Given the description of an element on the screen output the (x, y) to click on. 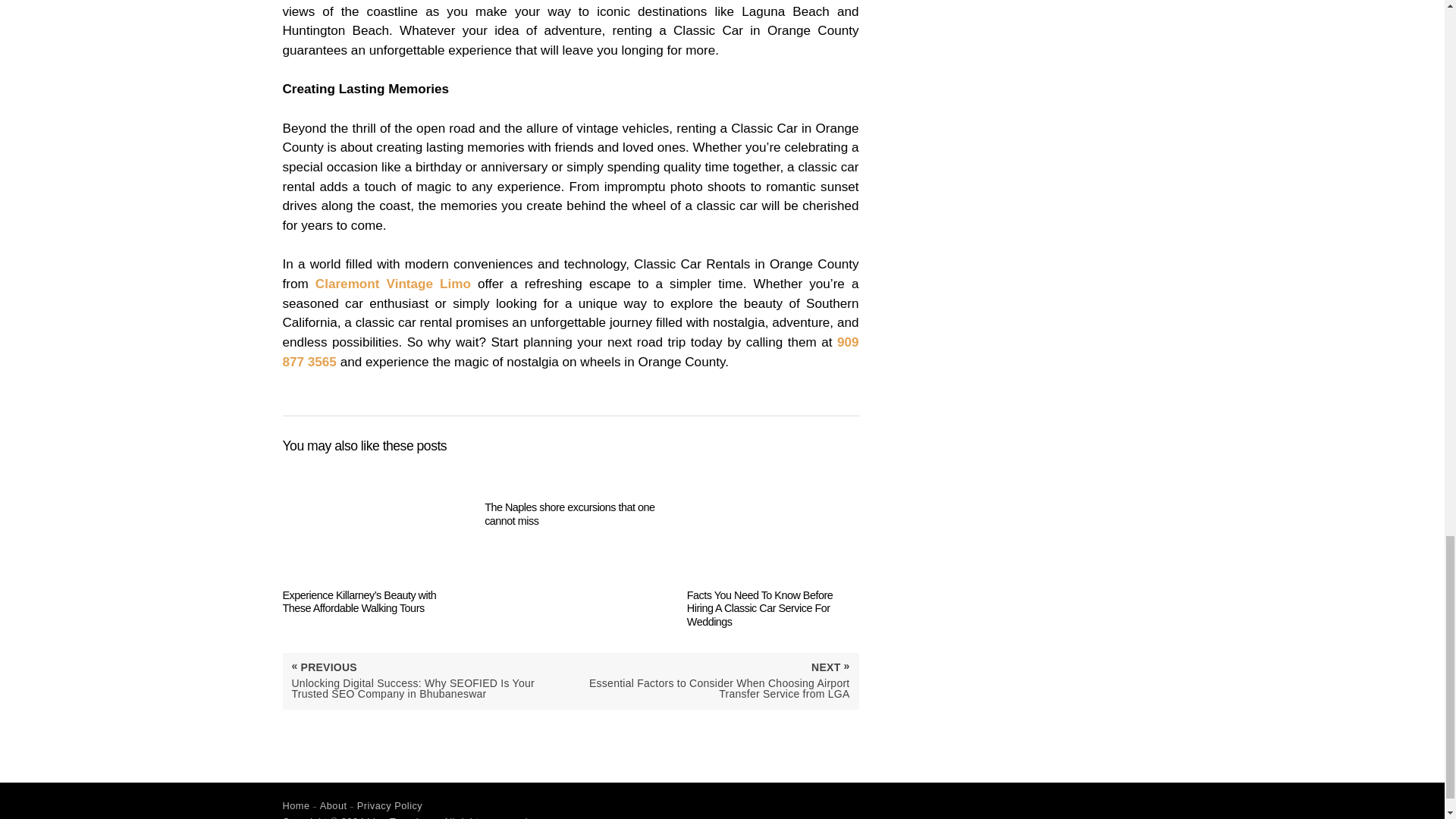
909 877 3565 (570, 351)
The Naples shore excursions that one cannot miss (570, 494)
Claremont Vintage Limo (392, 283)
Privacy Policy (389, 805)
The Naples shore excursions that one cannot miss (570, 494)
About (333, 805)
Home (295, 805)
